Given the description of an element on the screen output the (x, y) to click on. 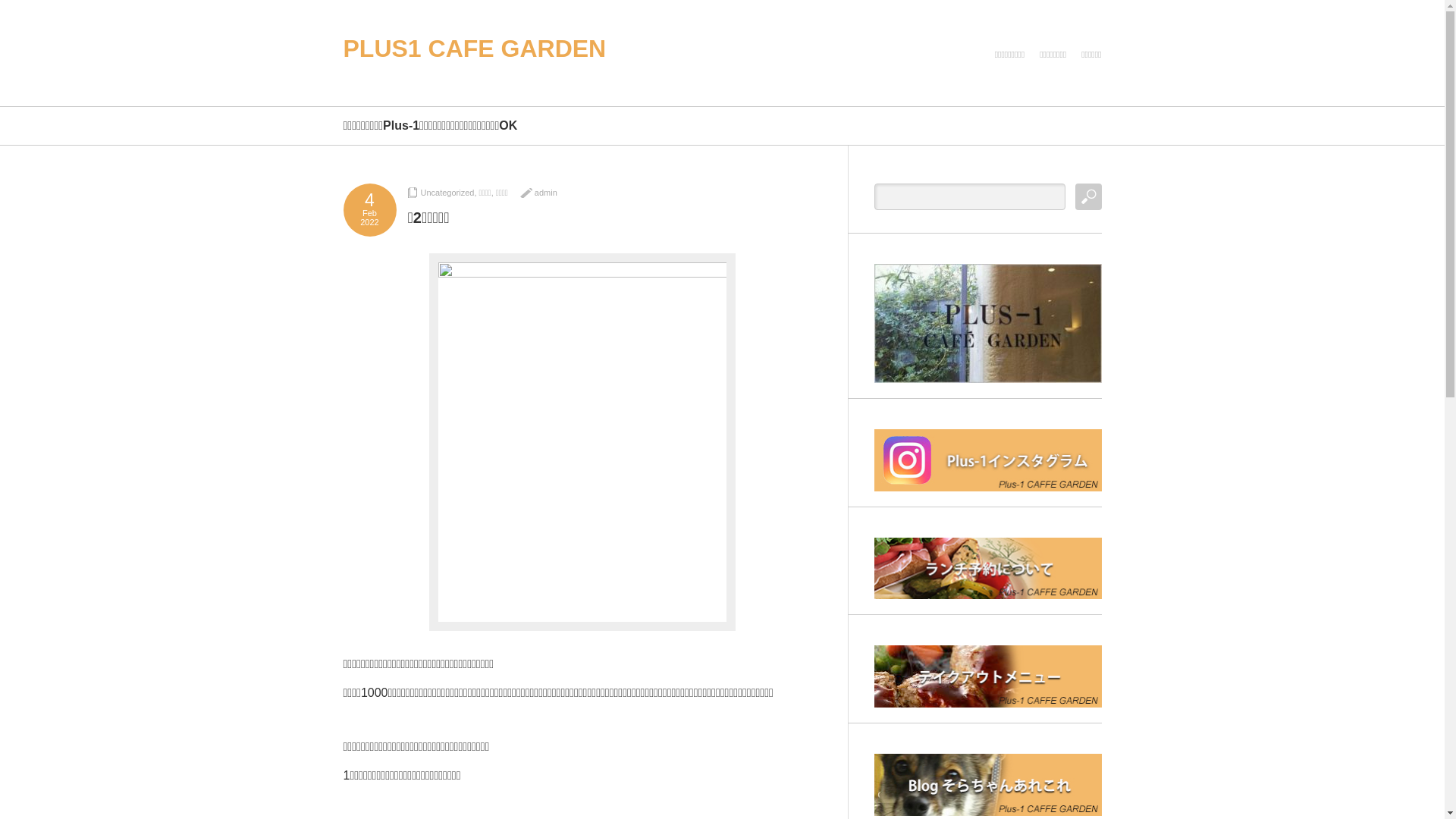
admin Element type: text (545, 192)
PLUS1 CAFE GARDEN Element type: text (473, 48)
Uncategorized Element type: text (446, 192)
